Given the description of an element on the screen output the (x, y) to click on. 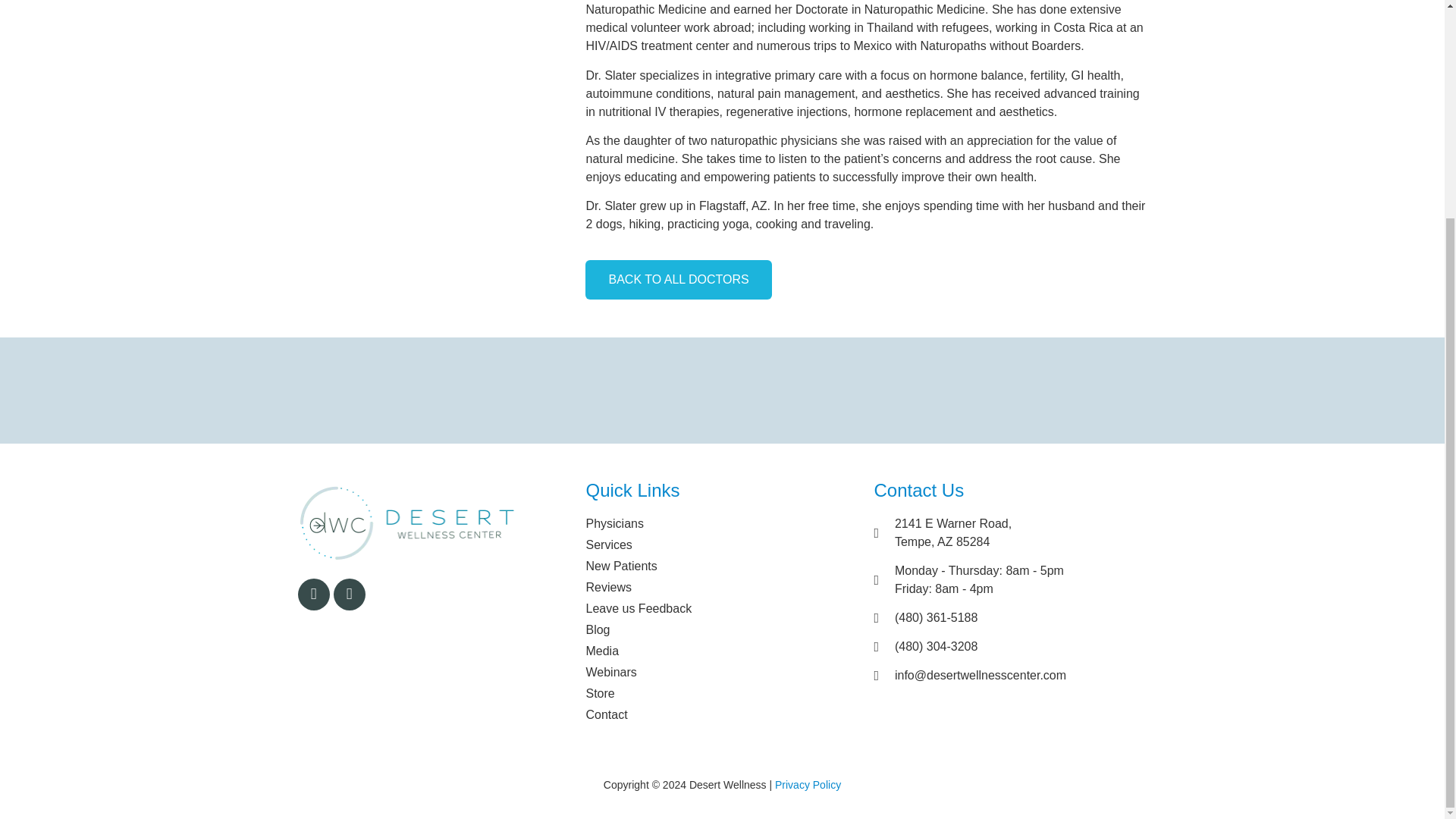
Privacy Policy (807, 784)
Store (722, 693)
Blog (722, 629)
Contact (722, 714)
BACK TO ALL DOCTORS (678, 279)
Reviews (722, 587)
New Patients (1010, 533)
Media (722, 566)
Physicians (722, 651)
Leave us Feedback (722, 524)
Services (722, 608)
